Given the description of an element on the screen output the (x, y) to click on. 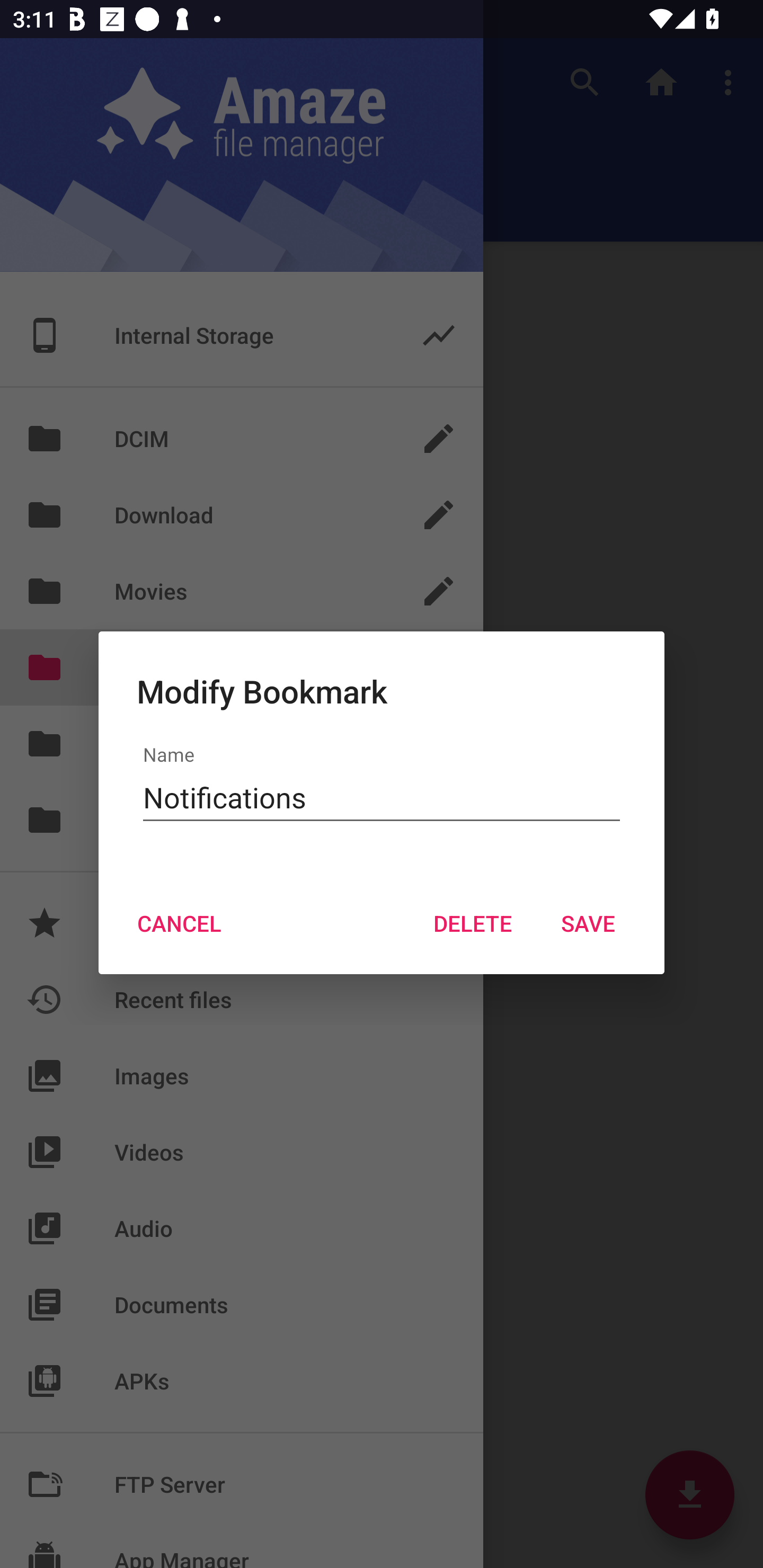
Notifications (381, 798)
CANCEL (178, 923)
DELETE (472, 923)
SAVE (588, 923)
